Given the description of an element on the screen output the (x, y) to click on. 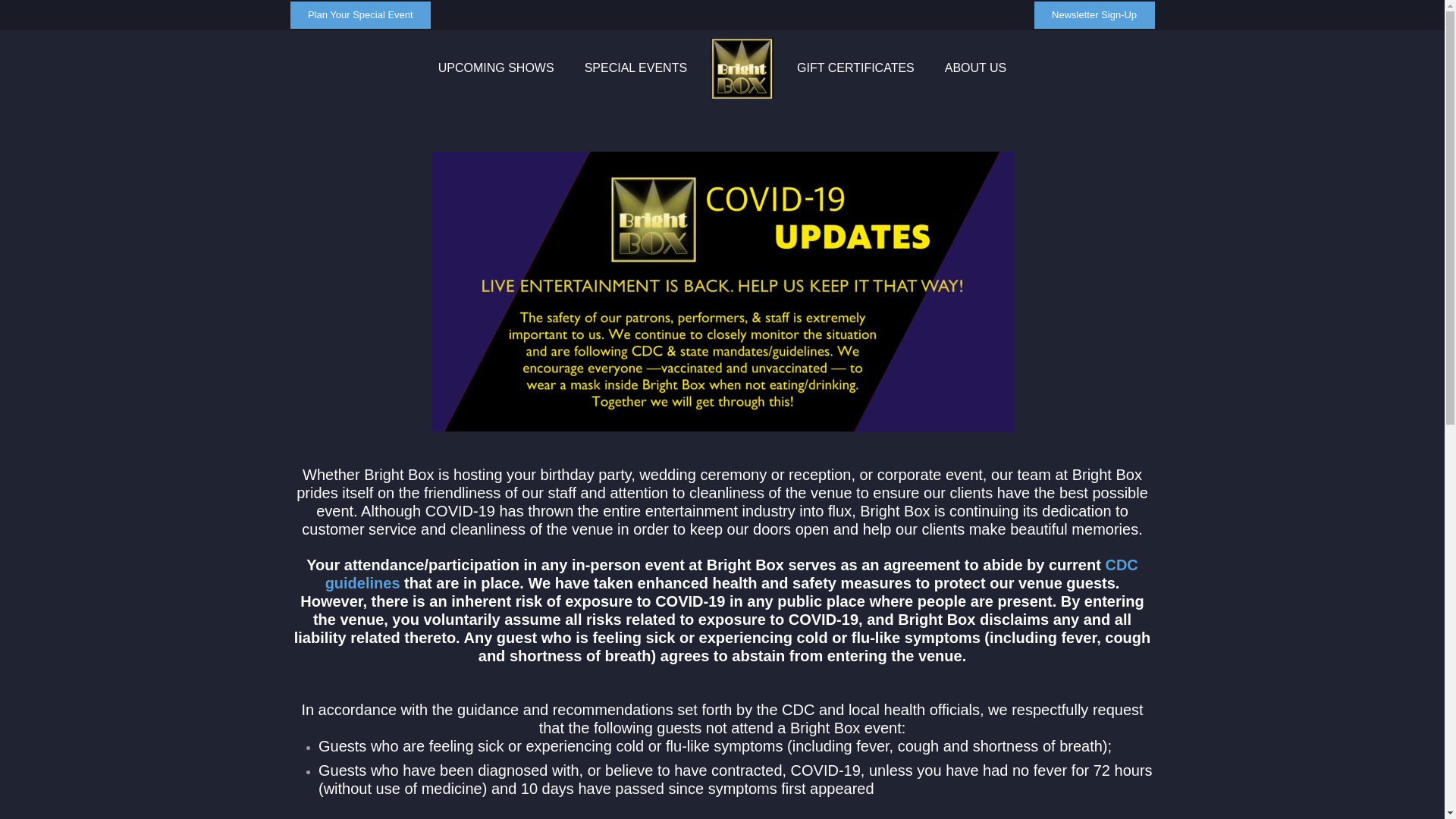
UPCOMING SHOWS (496, 68)
Newsletter Sign-Up (1093, 14)
ABOUT US (976, 68)
GIFT CERTIFICATES (855, 68)
CDC guidelines (731, 573)
Plan Your Special Event (359, 14)
SPECIAL EVENTS (635, 68)
